Given the description of an element on the screen output the (x, y) to click on. 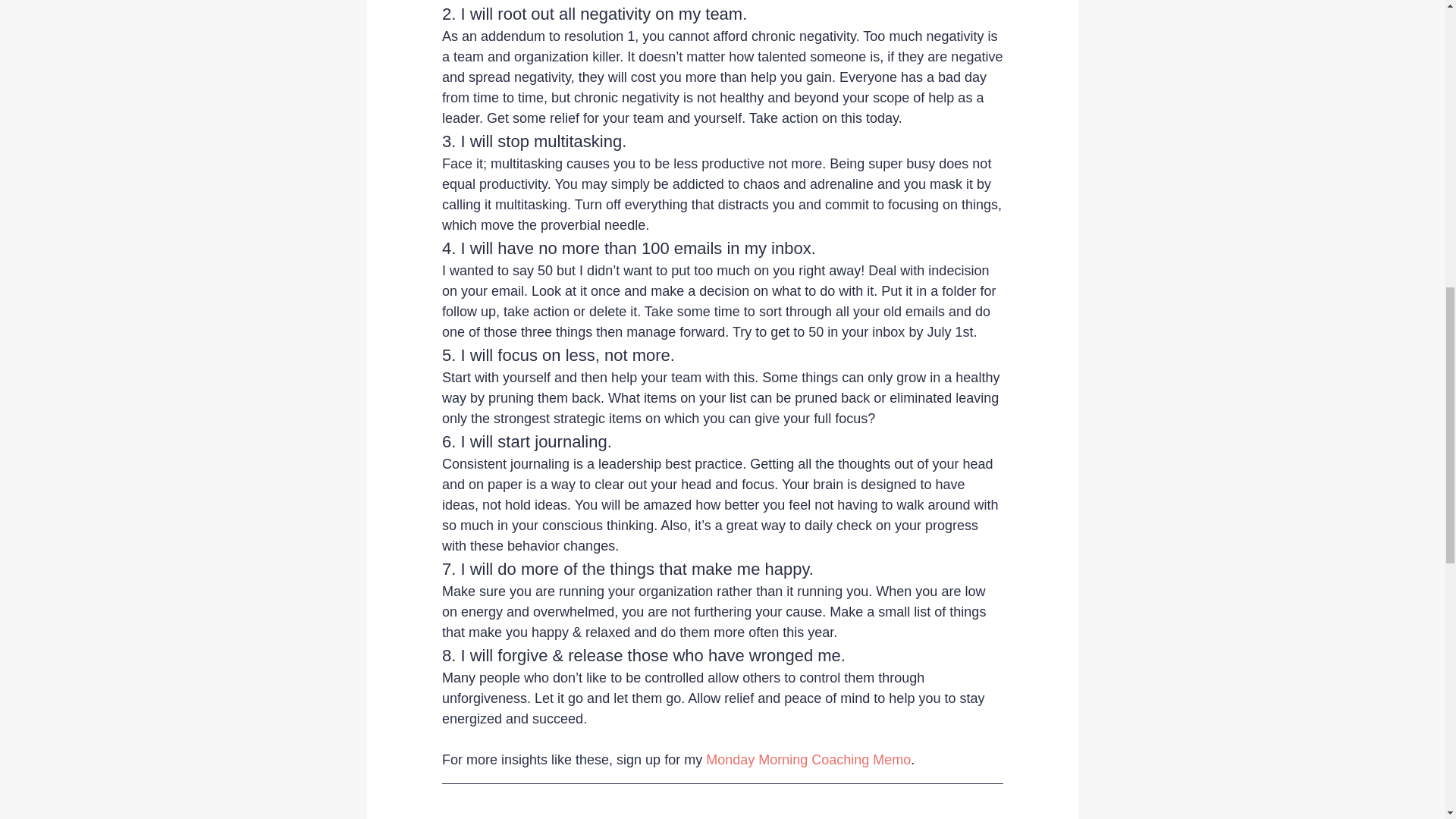
Monday Morning Coaching Memo (808, 759)
